Given the description of an element on the screen output the (x, y) to click on. 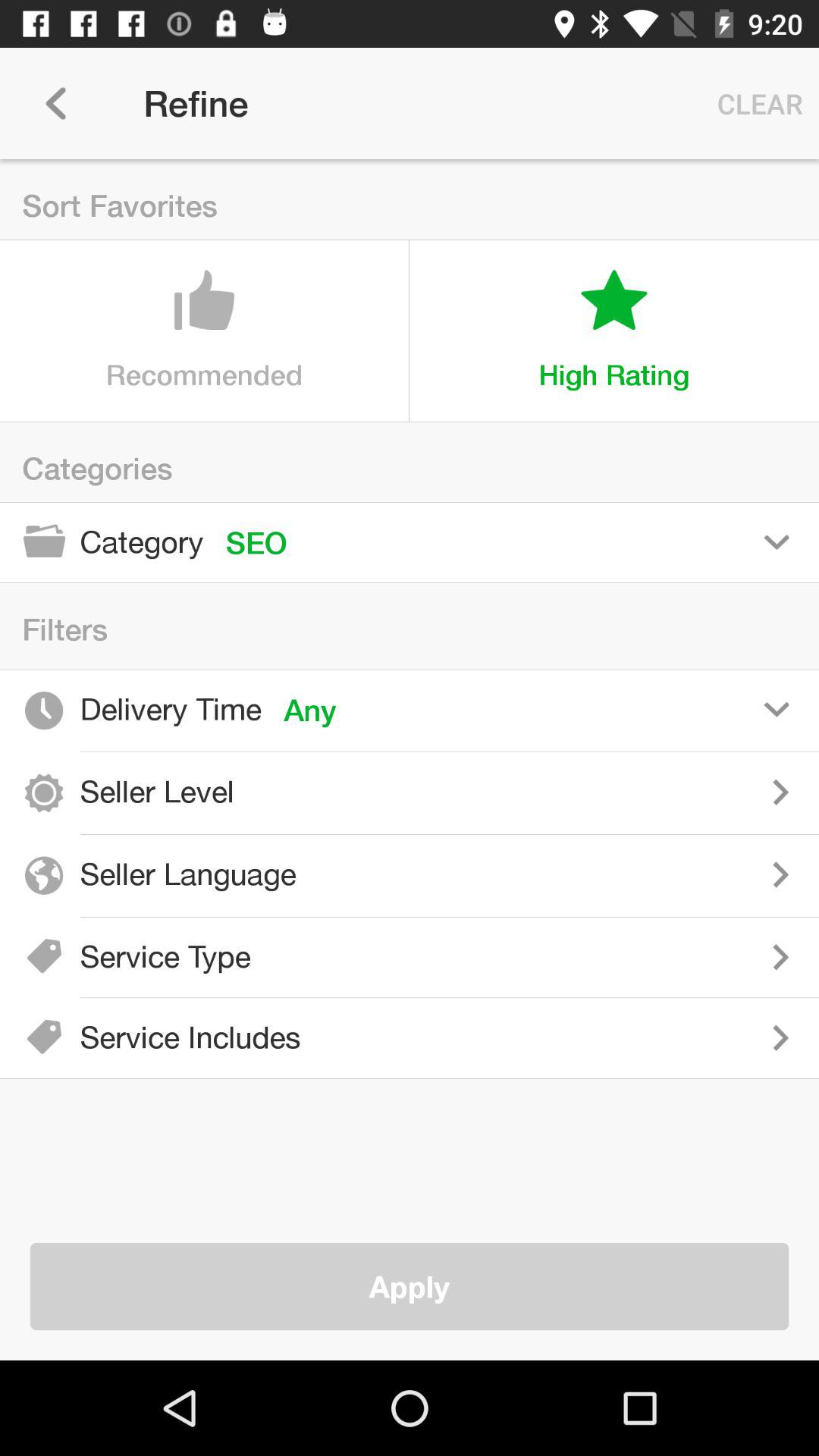
press icon next to refine item (55, 103)
